Given the description of an element on the screen output the (x, y) to click on. 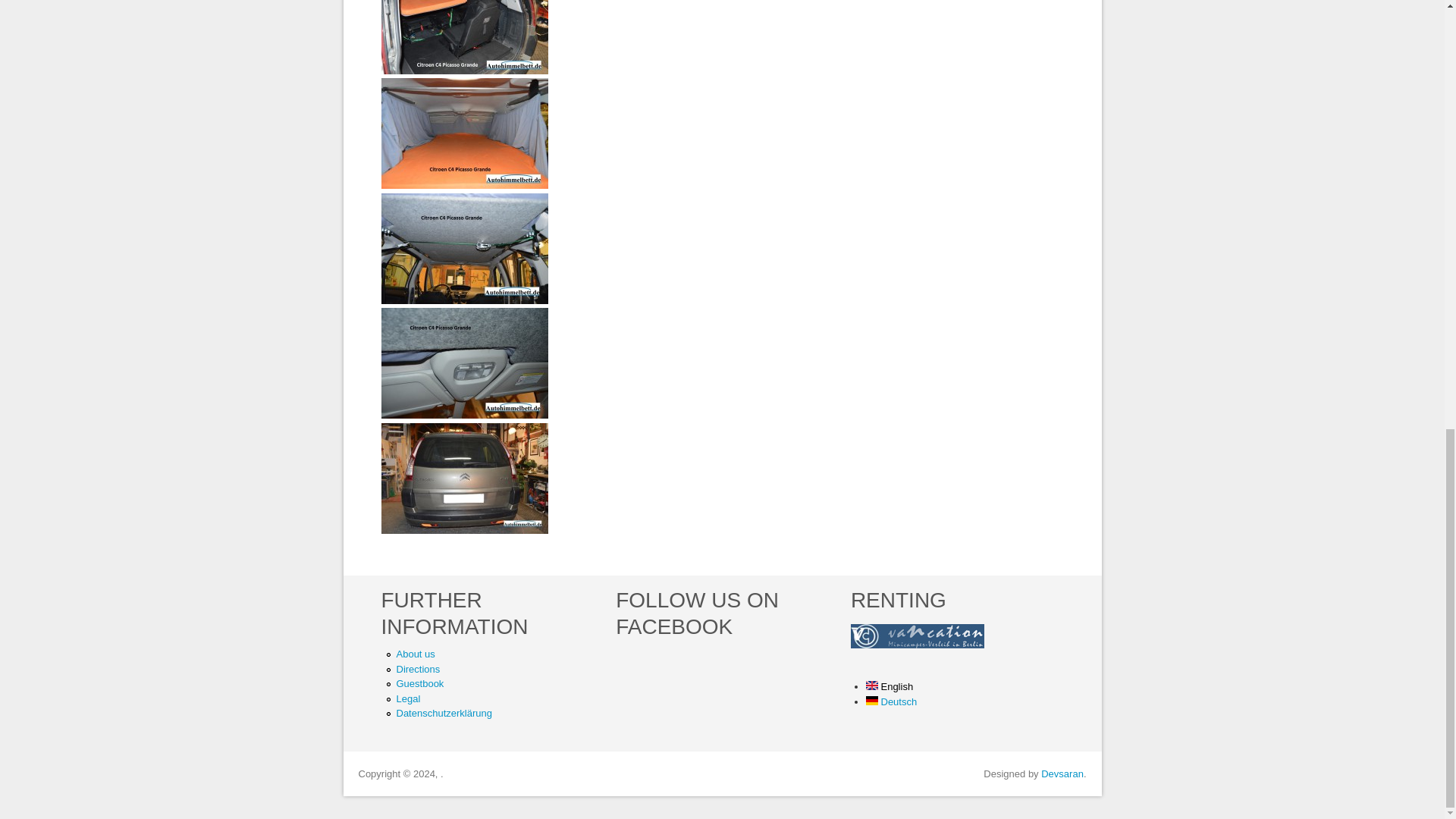
Citroen C4 Picasso hochgeschwenktes Auto-Himmelbett (463, 300)
Citroen C4 Picasso hochgeschwenktes Auto-Himmelbett (463, 248)
Directions (417, 668)
Guestbook (420, 683)
Citroen C4 Picasso heruntergeschwenktes Auto-Himmelbett (463, 37)
Autohimmelbett im Citroen C4 Picasso Grande (463, 530)
Autohimmelbett im Citroen C4 Picasso Grande (463, 478)
Citroen C4 Picasso heruntergeschwenktes Auto-Himmelbett (463, 70)
About us (414, 654)
